Given the description of an element on the screen output the (x, y) to click on. 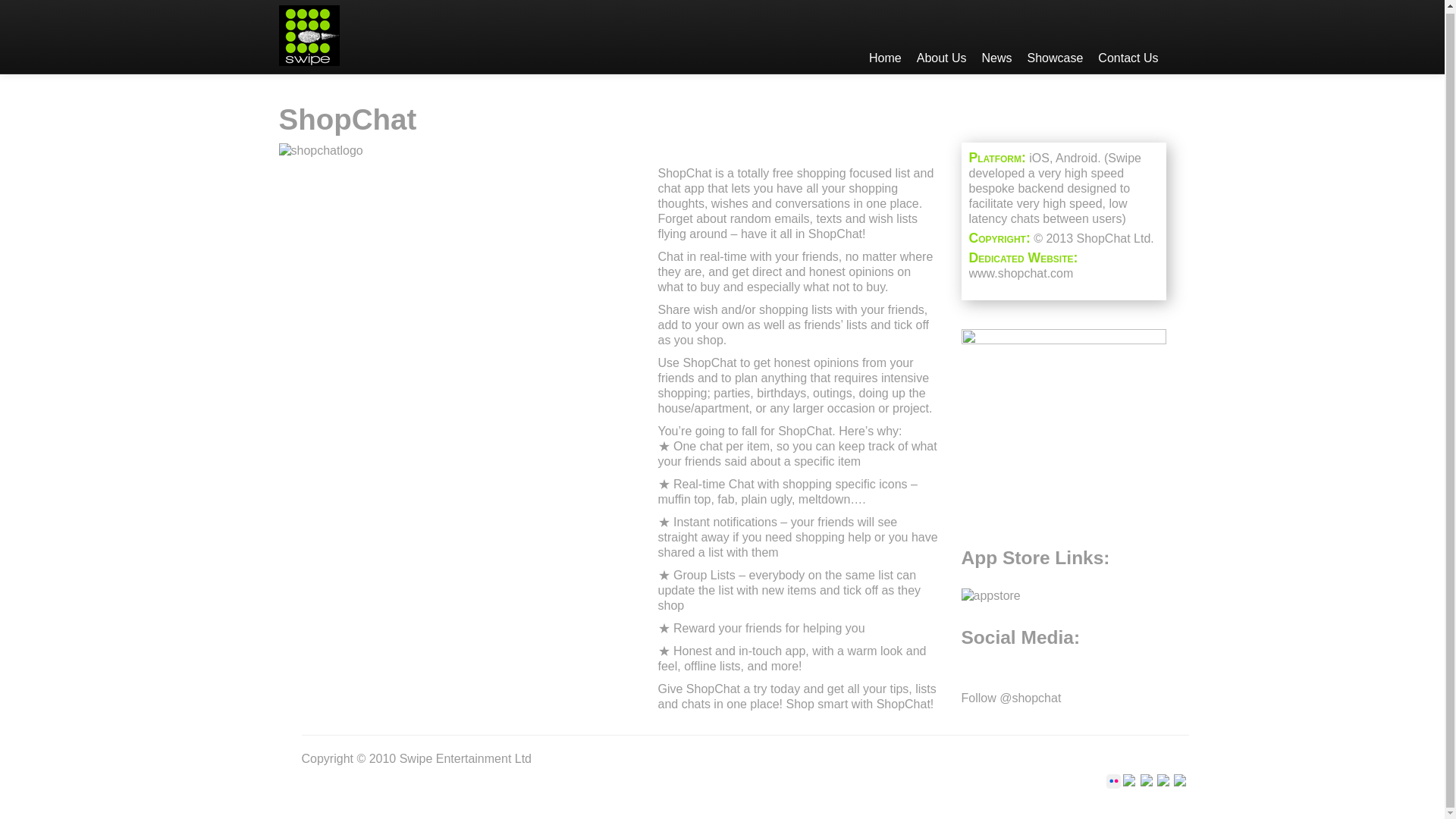
www.shopchat.com (1021, 273)
Showcase (1055, 36)
dropdown (1055, 36)
Contact Us (1128, 36)
